Given the description of an element on the screen output the (x, y) to click on. 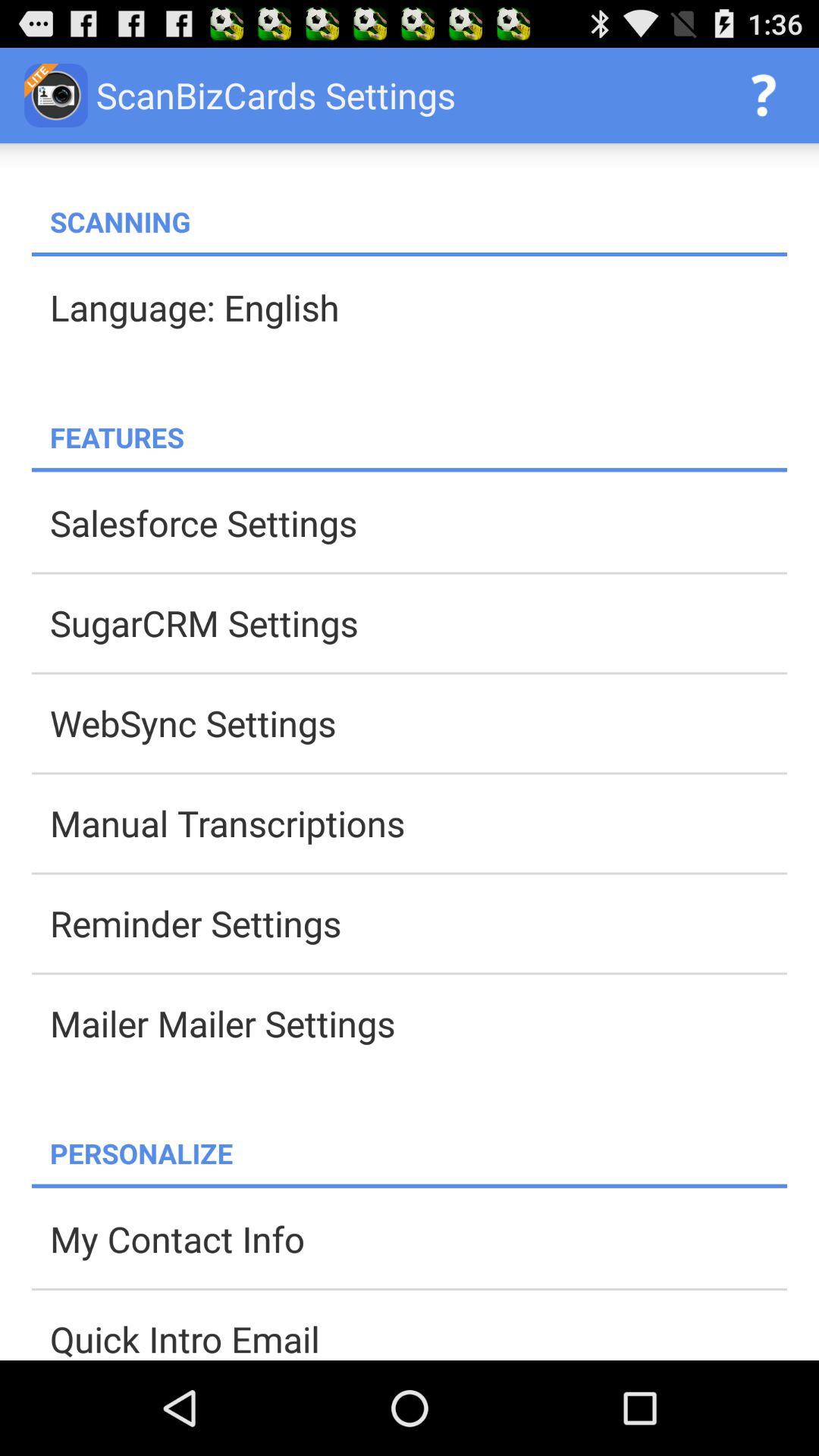
flip until scanning item (418, 221)
